Given the description of an element on the screen output the (x, y) to click on. 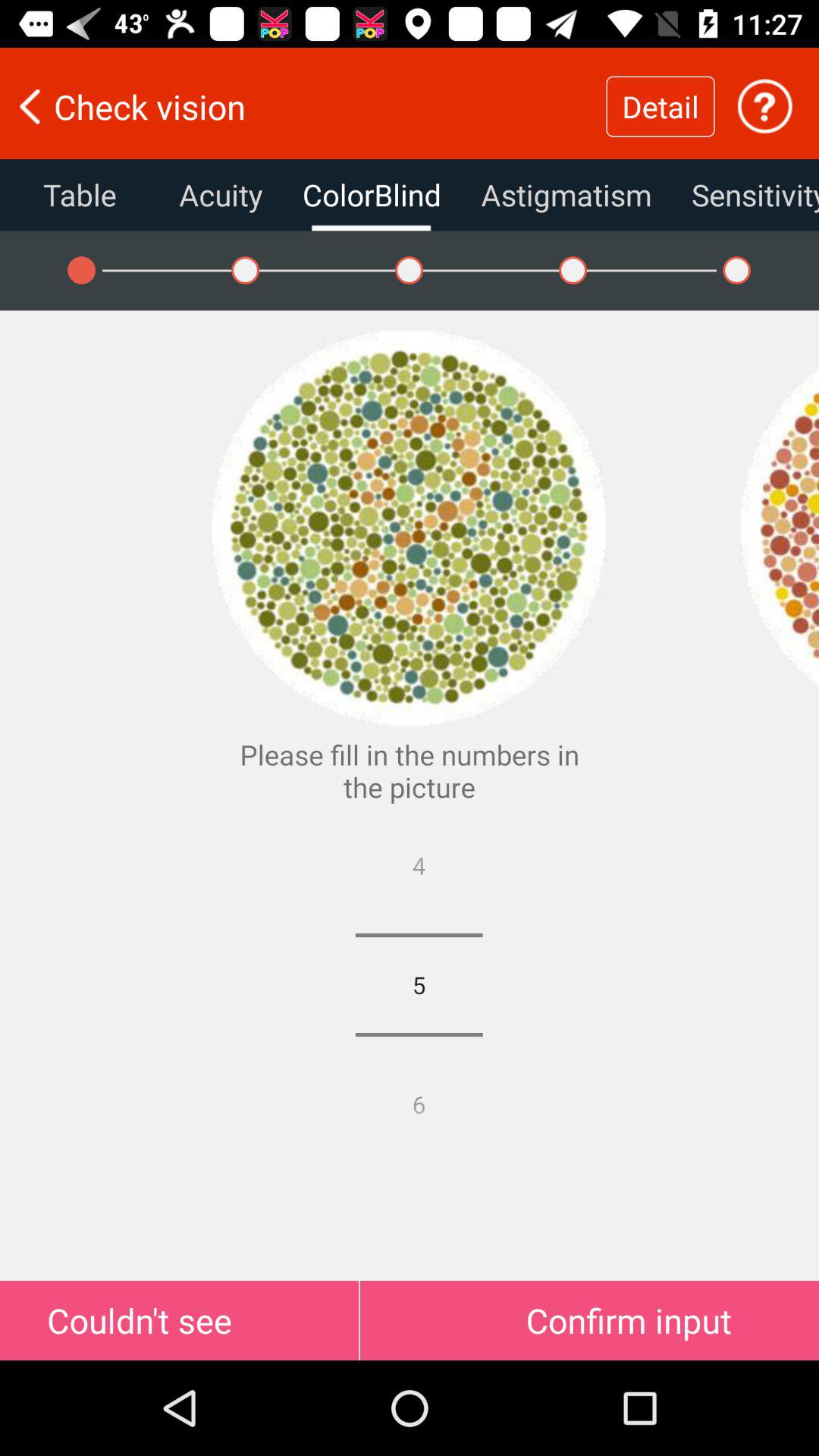
game (779, 527)
